Given the description of an element on the screen output the (x, y) to click on. 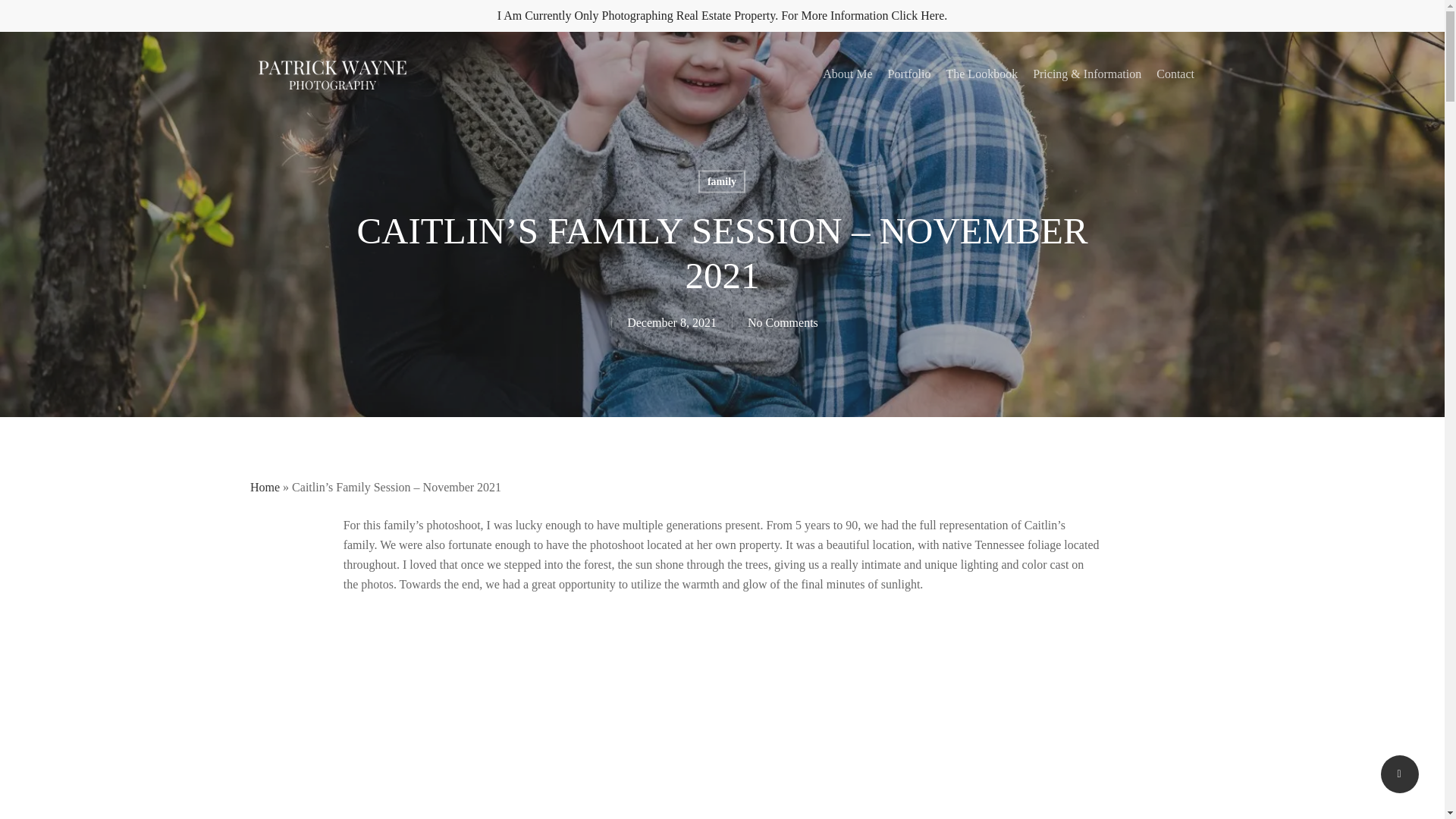
Home (264, 486)
The Lookbook (980, 74)
Contact (1174, 74)
family (721, 180)
Portfolio (909, 74)
About Me (847, 74)
No Comments (783, 321)
